Given the description of an element on the screen output the (x, y) to click on. 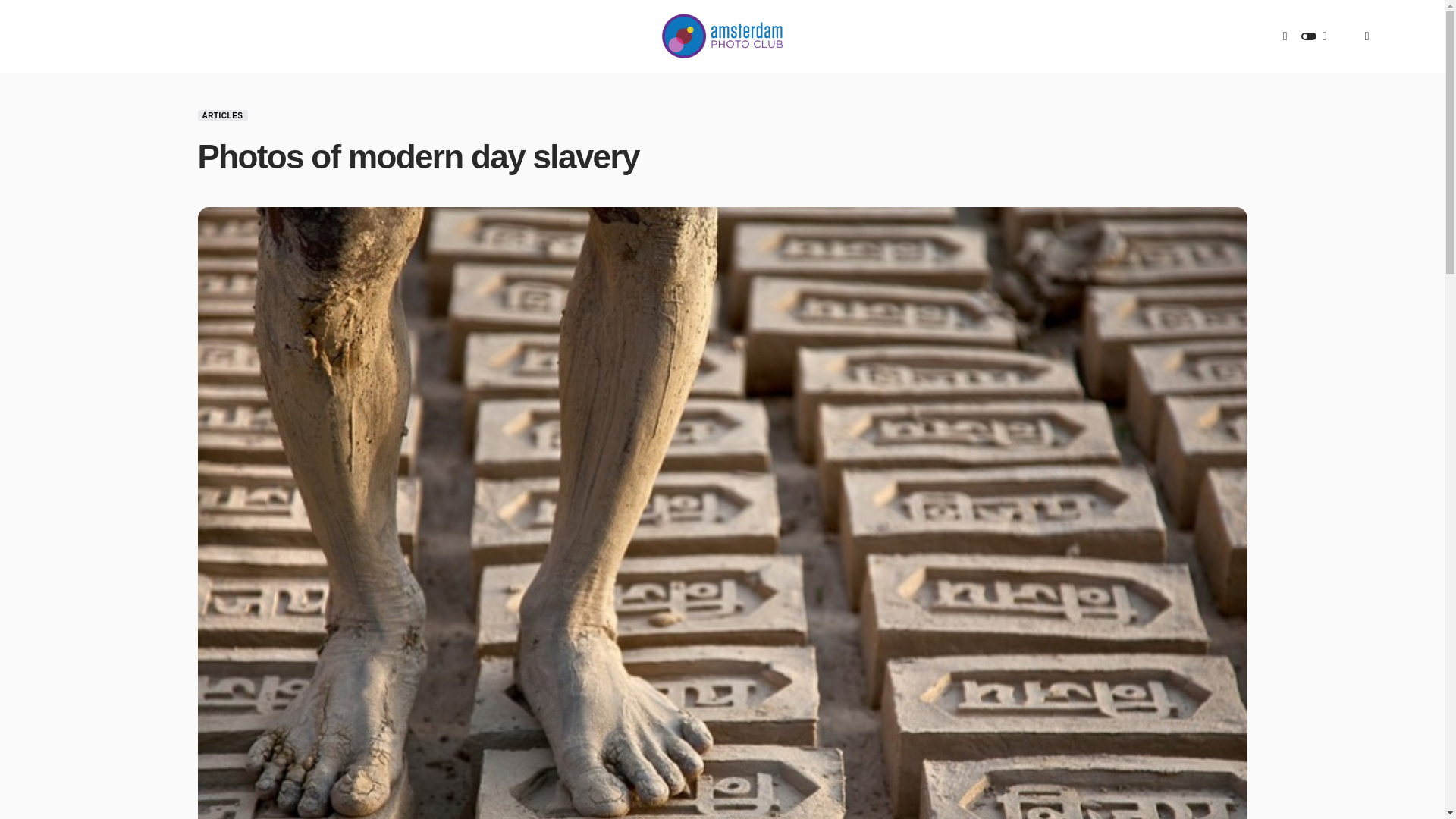
ARTICLES (221, 115)
